Given the description of an element on the screen output the (x, y) to click on. 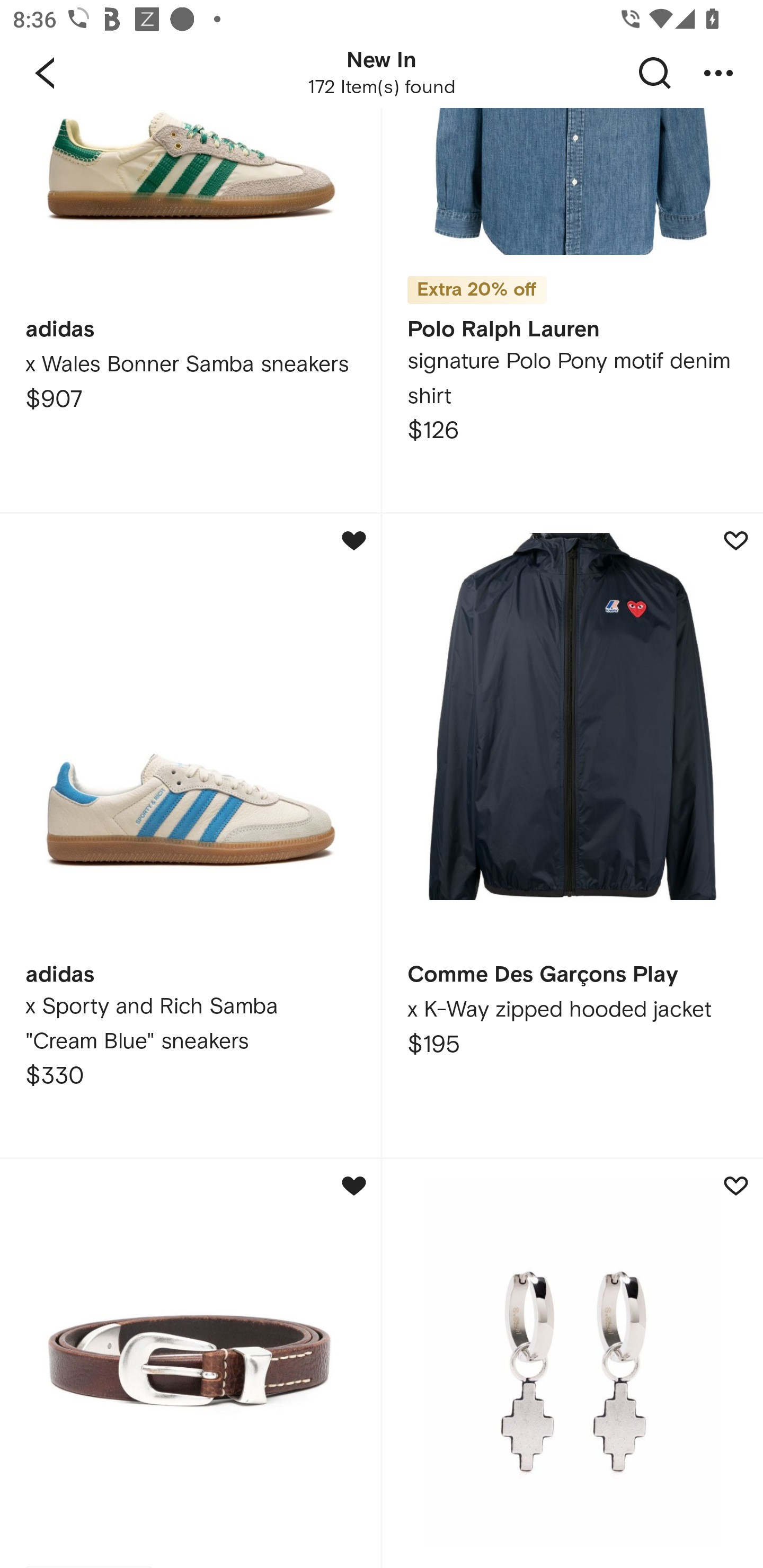
adidas x Wales Bonner Samba sneakers $907 (190, 310)
Extra 20% off (477, 283)
